Given the description of an element on the screen output the (x, y) to click on. 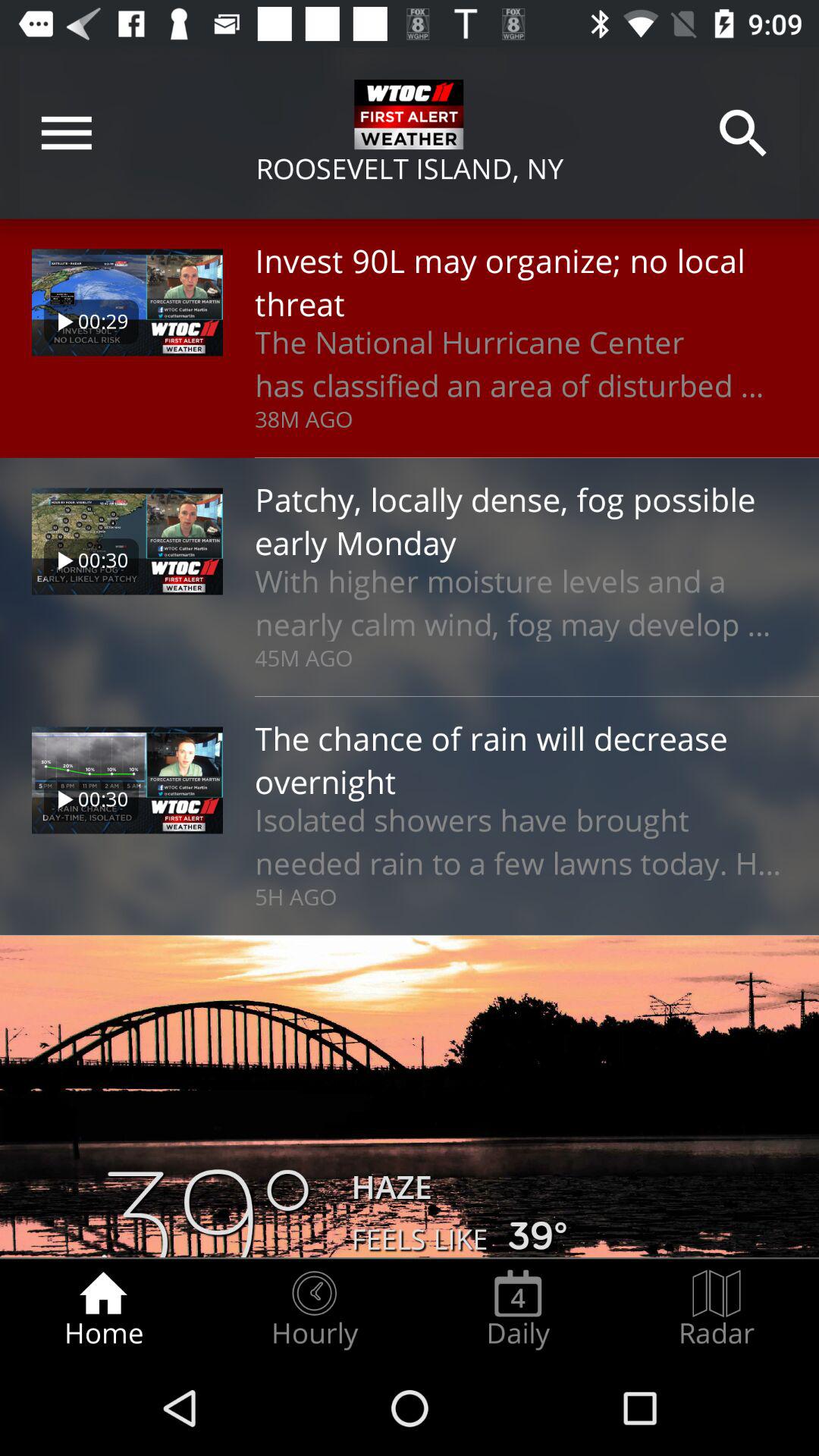
press the radio button to the left of the radar radio button (518, 1309)
